Given the description of an element on the screen output the (x, y) to click on. 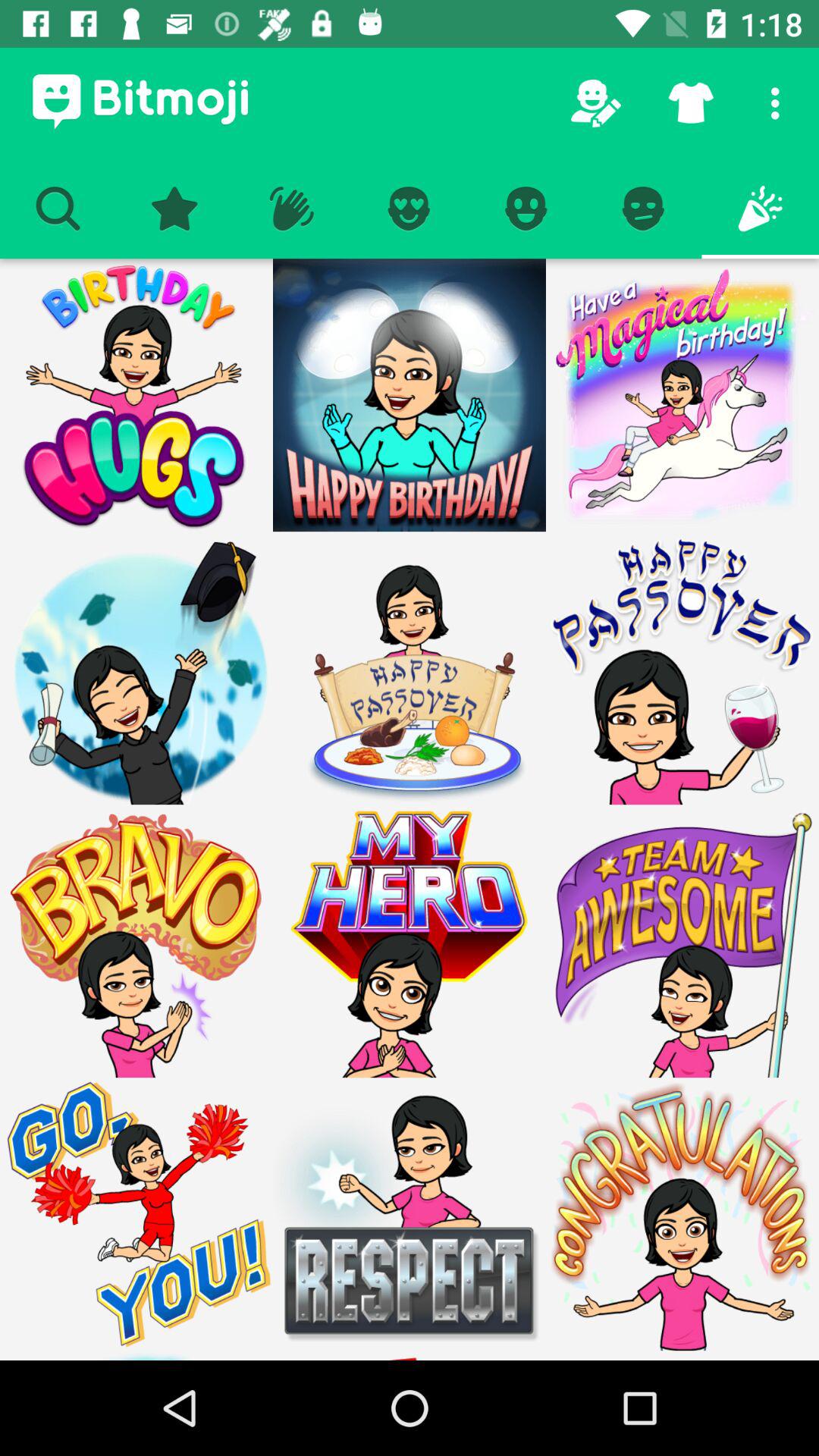
add respect bitmoji (409, 1213)
